Given the description of an element on the screen output the (x, y) to click on. 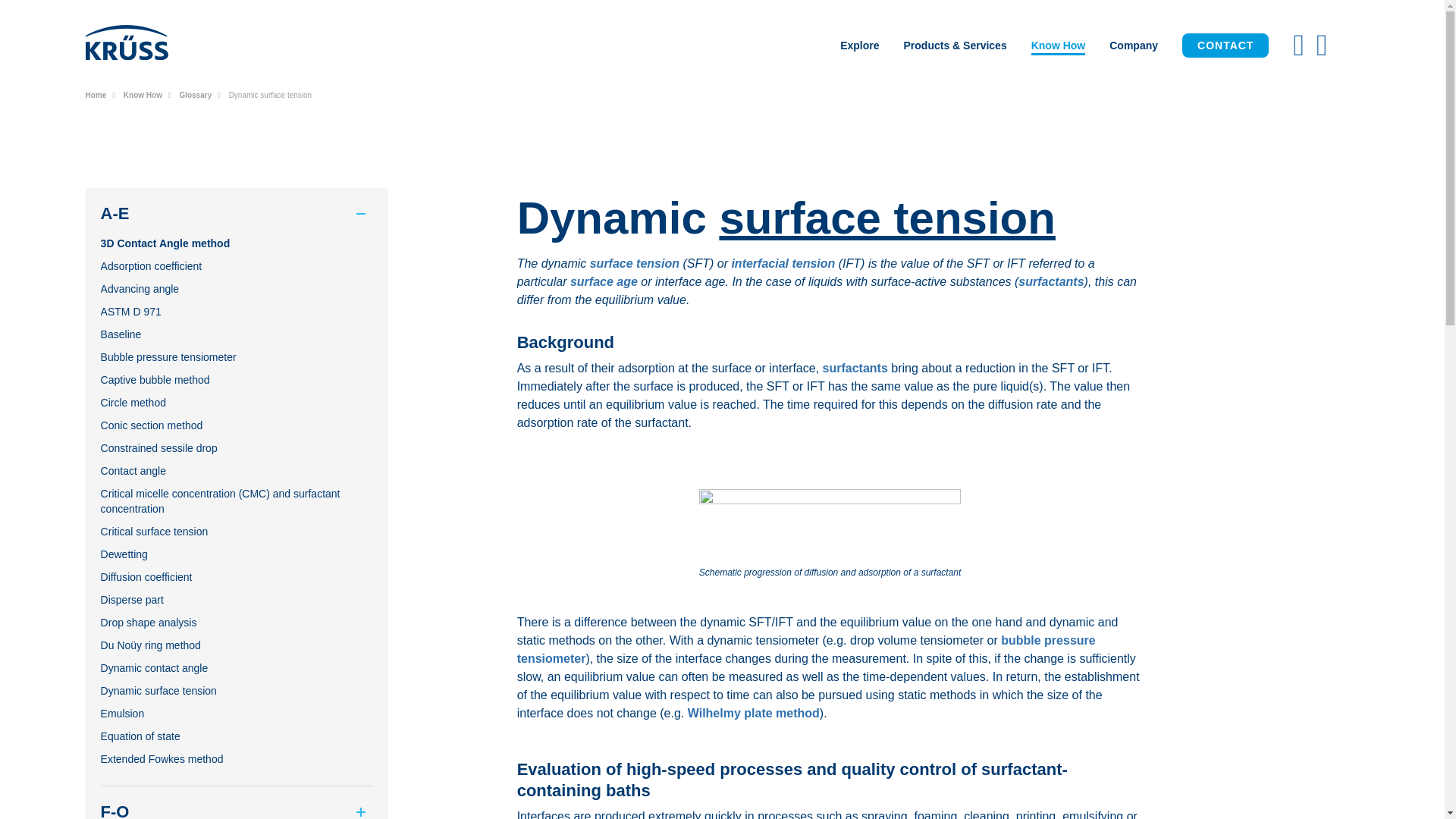
Know How (1058, 45)
Company (1133, 45)
Dynamic surface tension (270, 94)
Know How (142, 94)
Glossary (195, 94)
CONTACT (1225, 45)
Home (95, 94)
Explore (859, 45)
